Given the description of an element on the screen output the (x, y) to click on. 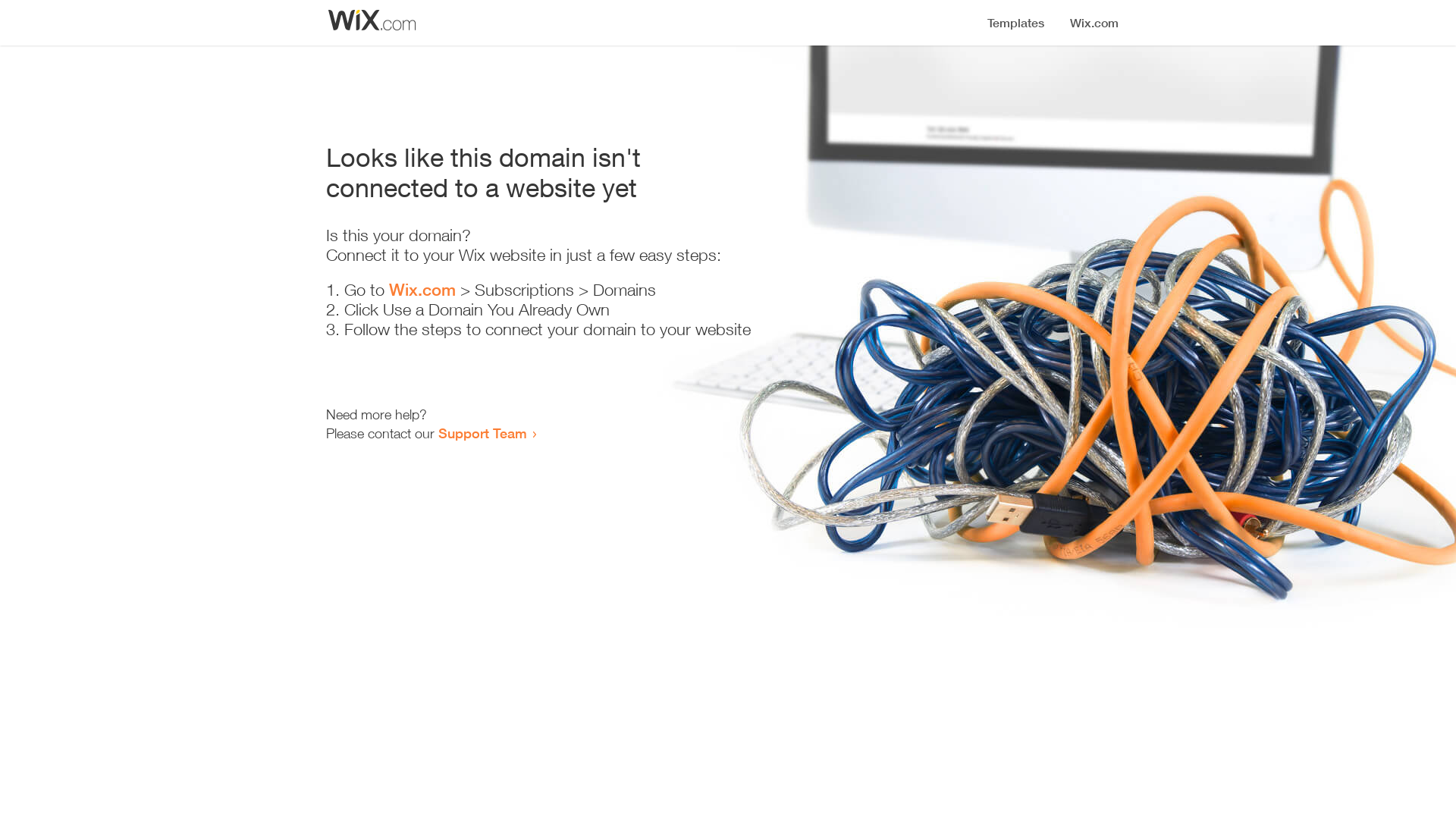
Support Team Element type: text (482, 432)
Wix.com Element type: text (422, 289)
